Given the description of an element on the screen output the (x, y) to click on. 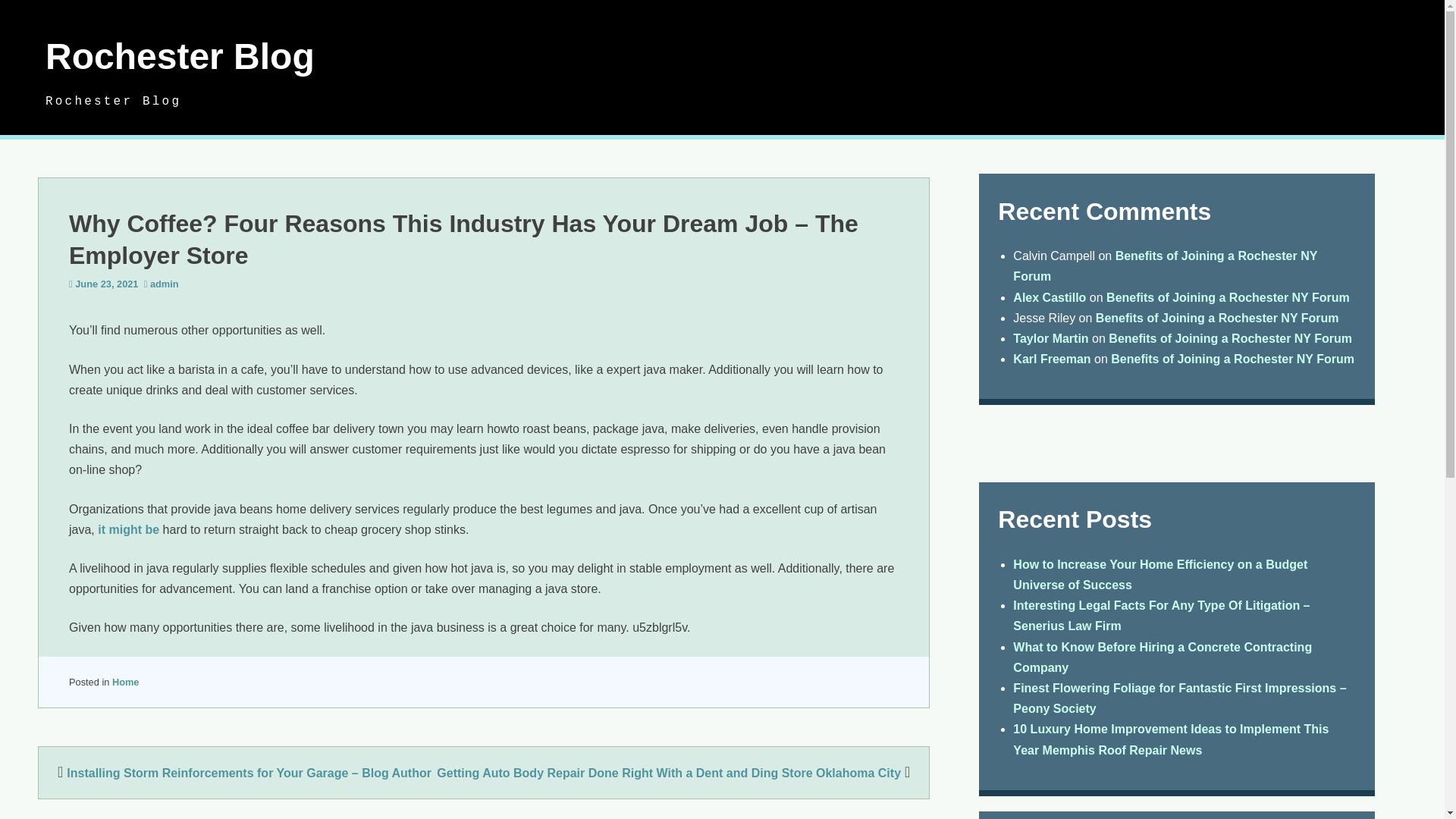
Rochester Blog (179, 56)
Benefits of Joining a Rochester NY Forum (1217, 318)
Karl Freeman (1051, 358)
What to Know Before Hiring a Concrete Contracting Company (1162, 657)
June 23, 2021 (106, 283)
Taylor Martin (1050, 338)
Benefits of Joining a Rochester NY Forum (1230, 338)
Benefits of Joining a Rochester NY Forum (1165, 265)
Alex Castillo (1049, 297)
it might be (127, 529)
Home (125, 681)
Benefits of Joining a Rochester NY Forum (1227, 297)
